Given the description of an element on the screen output the (x, y) to click on. 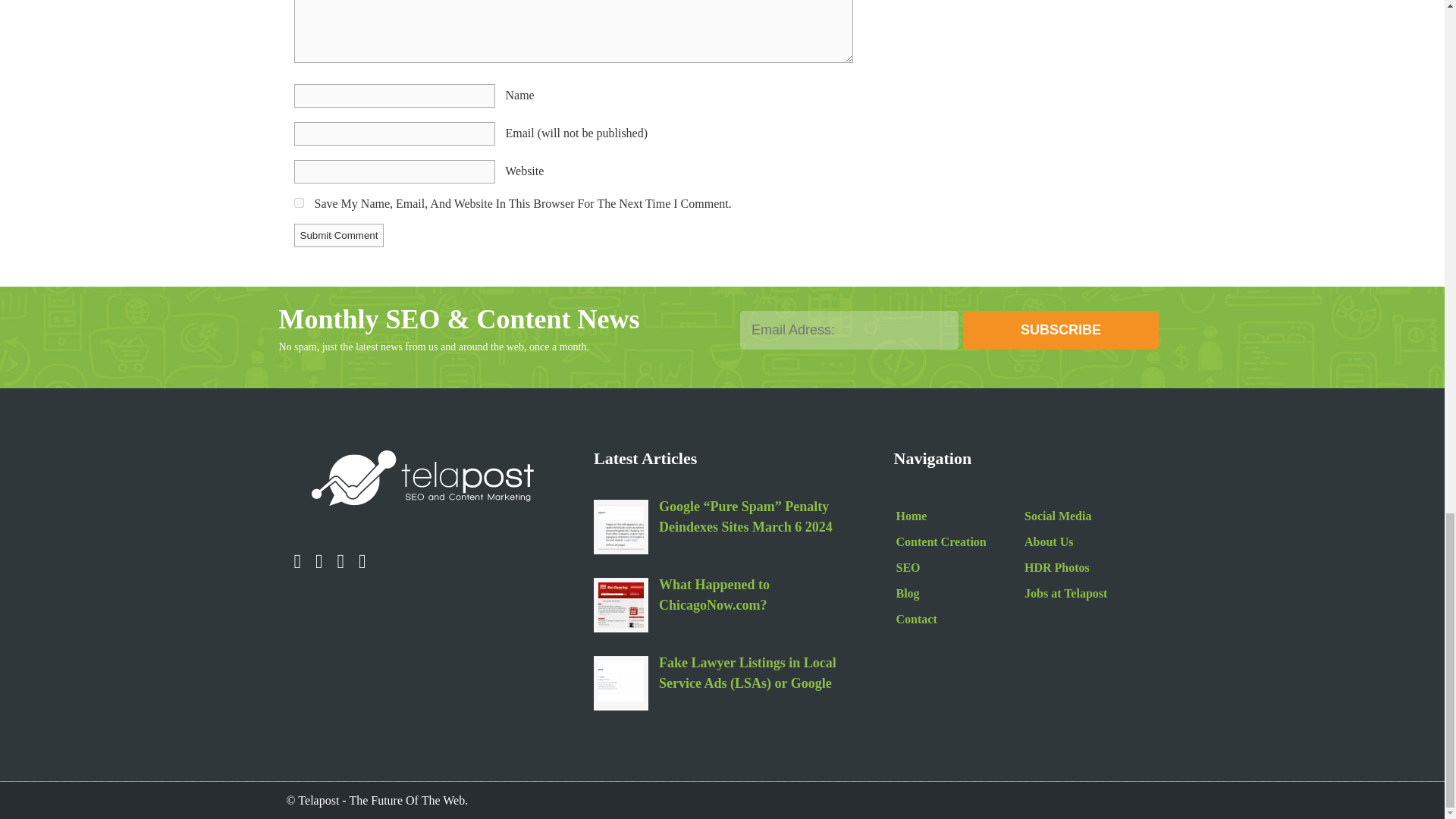
What Happened to ChicagoNow.com? (620, 605)
Submit Comment (339, 235)
What Happened to ChicagoNow.com? (754, 596)
Submit Comment (339, 235)
Subscribe (1060, 330)
yes (299, 203)
